Given the description of an element on the screen output the (x, y) to click on. 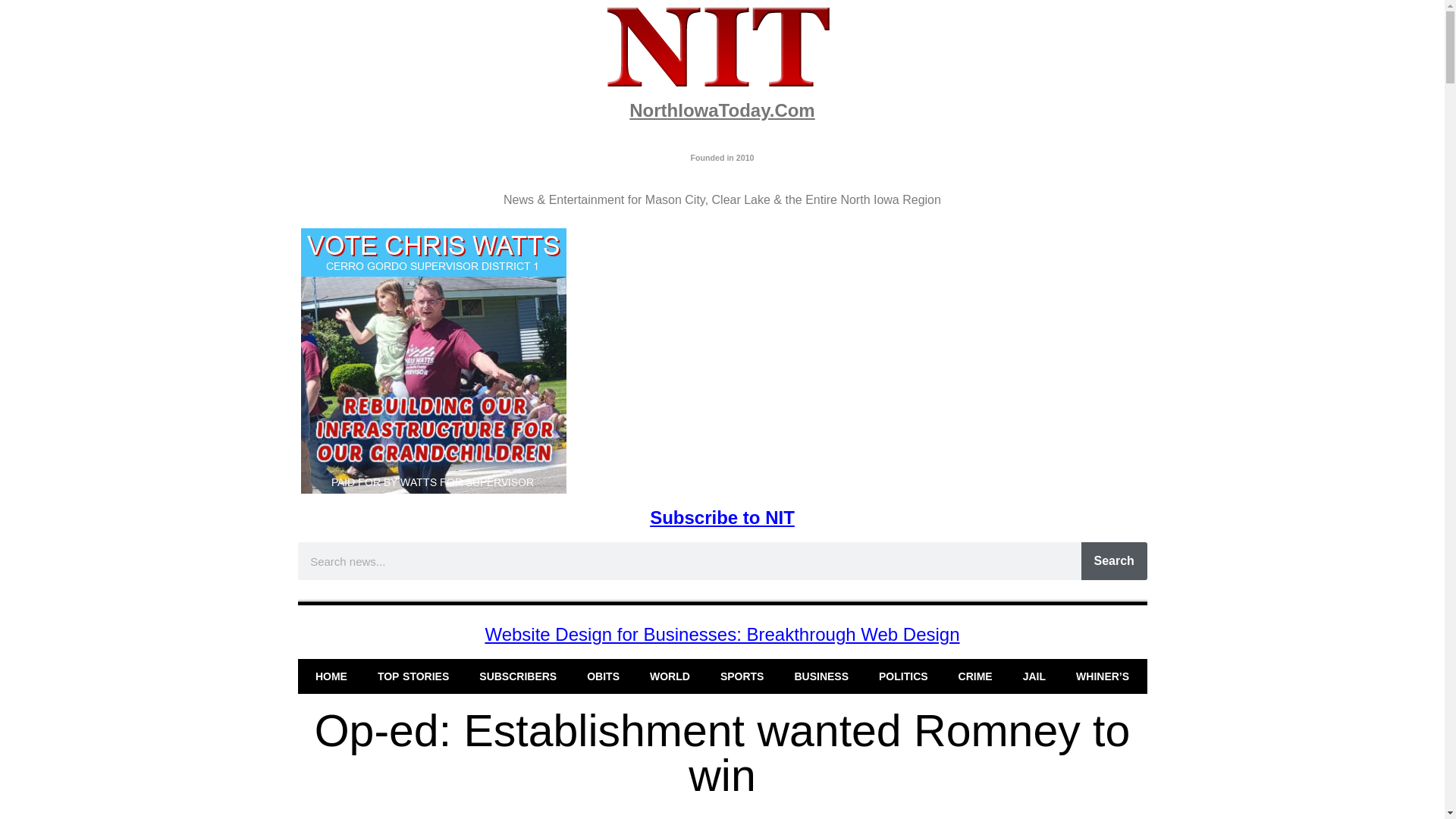
Search (1114, 560)
JAIL (1034, 676)
TOP STORIES (413, 676)
SPORTS (741, 676)
POLITICS (903, 676)
BUSINESS (820, 676)
HOME (330, 676)
CRIME (975, 676)
Subscribe to NIT (721, 516)
WORLD (669, 676)
Website Design for Businesses: Breakthrough Web Design (721, 634)
OBITS (603, 676)
SUBSCRIBERS (518, 676)
NorthIowaToday.Com (720, 109)
